Given the description of an element on the screen output the (x, y) to click on. 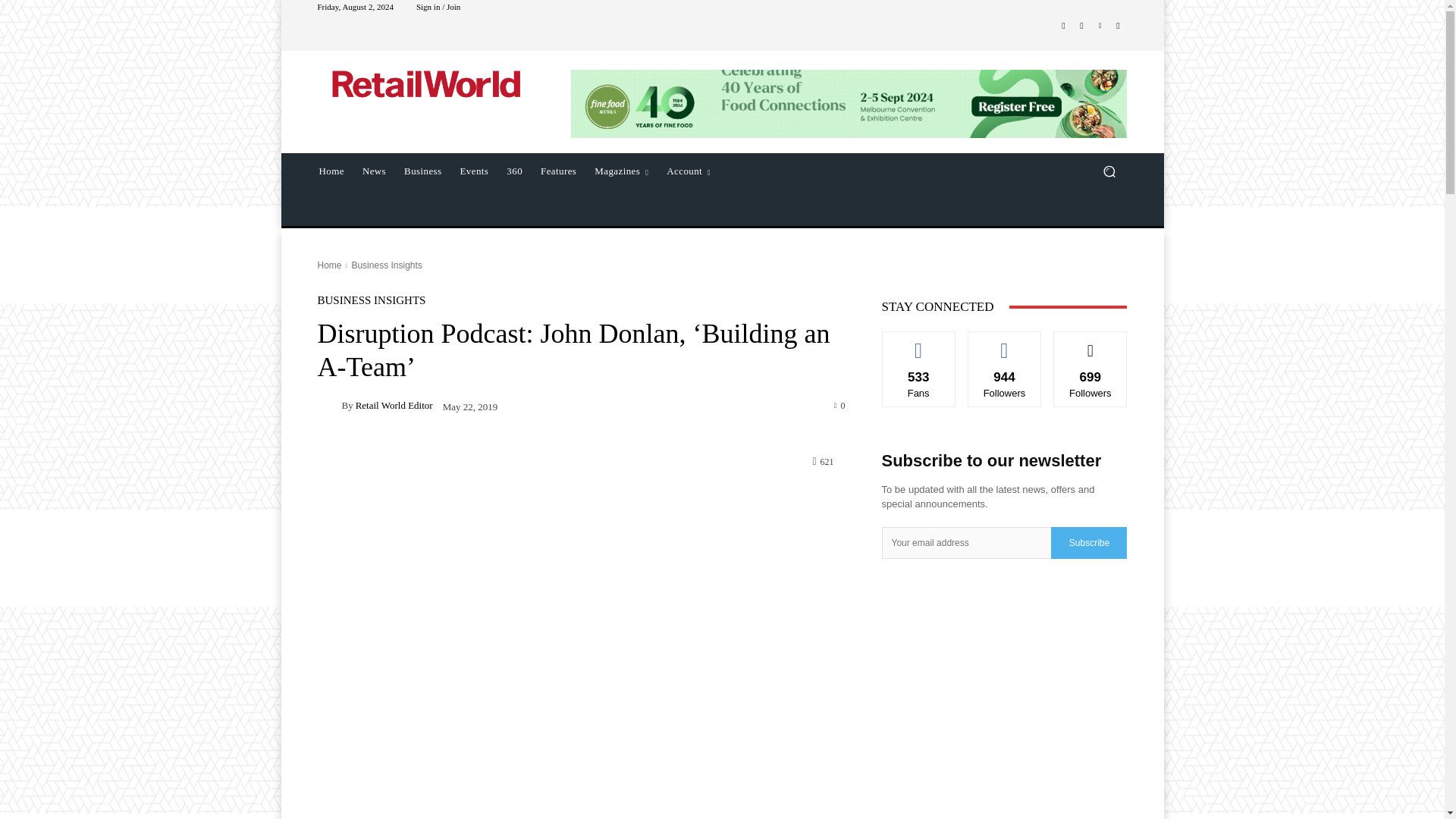
Features (558, 171)
Home (330, 171)
Account (688, 171)
Business (421, 171)
View all posts in Business Insights (386, 265)
News (373, 171)
Magazines (621, 171)
360 (514, 171)
Twitter (1117, 25)
Events (474, 171)
Instagram (1080, 25)
Linkedin (1099, 25)
Facebook (1062, 25)
Home (328, 265)
Retail World Editor (328, 405)
